Given the description of an element on the screen output the (x, y) to click on. 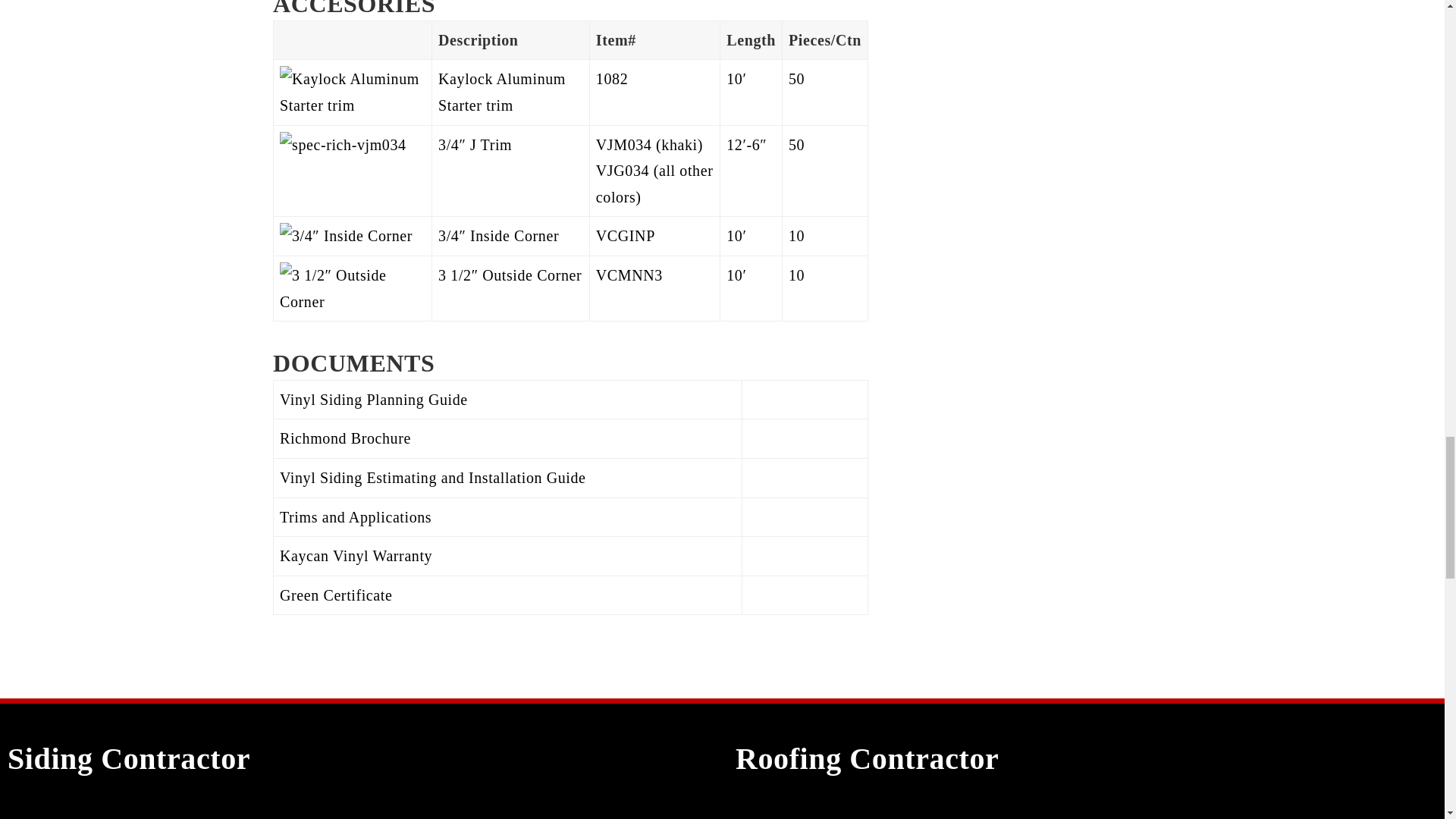
DOCUMENTS (353, 362)
ACCESORIES (354, 8)
Download (784, 555)
Download (784, 516)
Download (784, 595)
Download (784, 477)
Download (784, 399)
Download (784, 437)
